Given the description of an element on the screen output the (x, y) to click on. 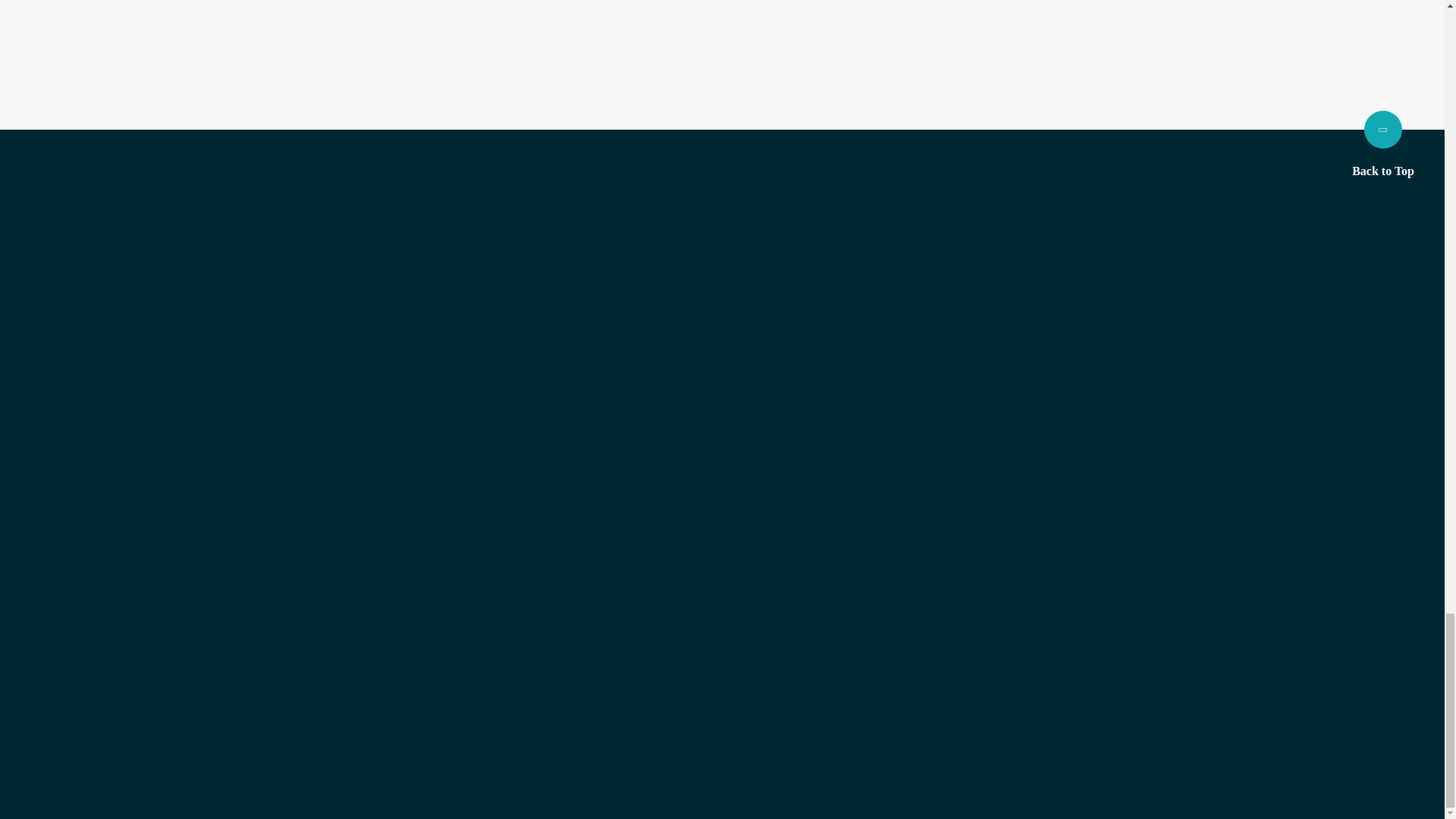
Back to Top (1382, 144)
